Given the description of an element on the screen output the (x, y) to click on. 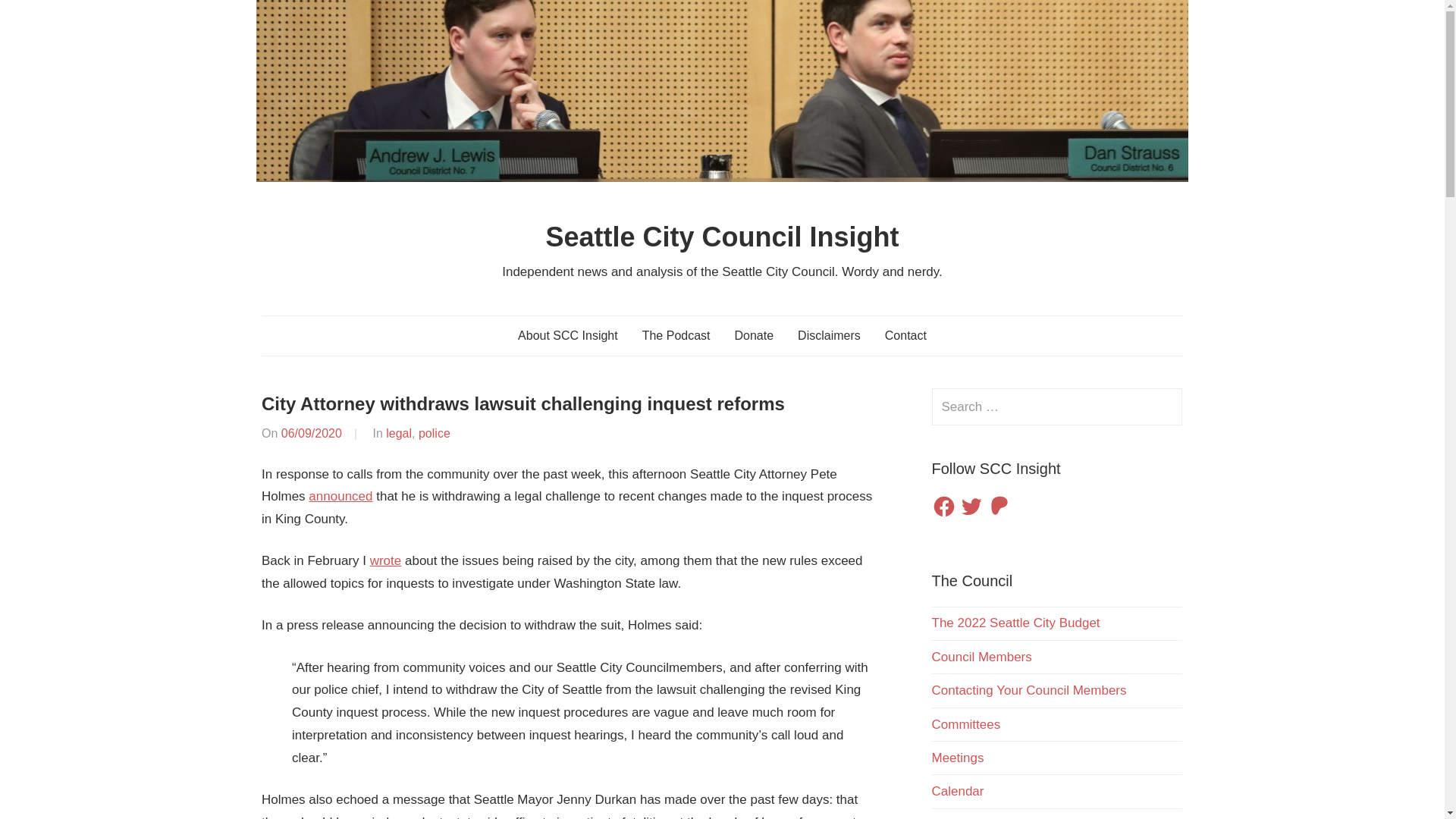
police (434, 432)
wrote (385, 560)
Meetings (957, 757)
Twitter (971, 506)
Calendar (957, 790)
Donate (754, 335)
2:51 PM (311, 432)
About SCC Insight (567, 335)
The 2022 Seattle City Budget (1015, 622)
